Given the description of an element on the screen output the (x, y) to click on. 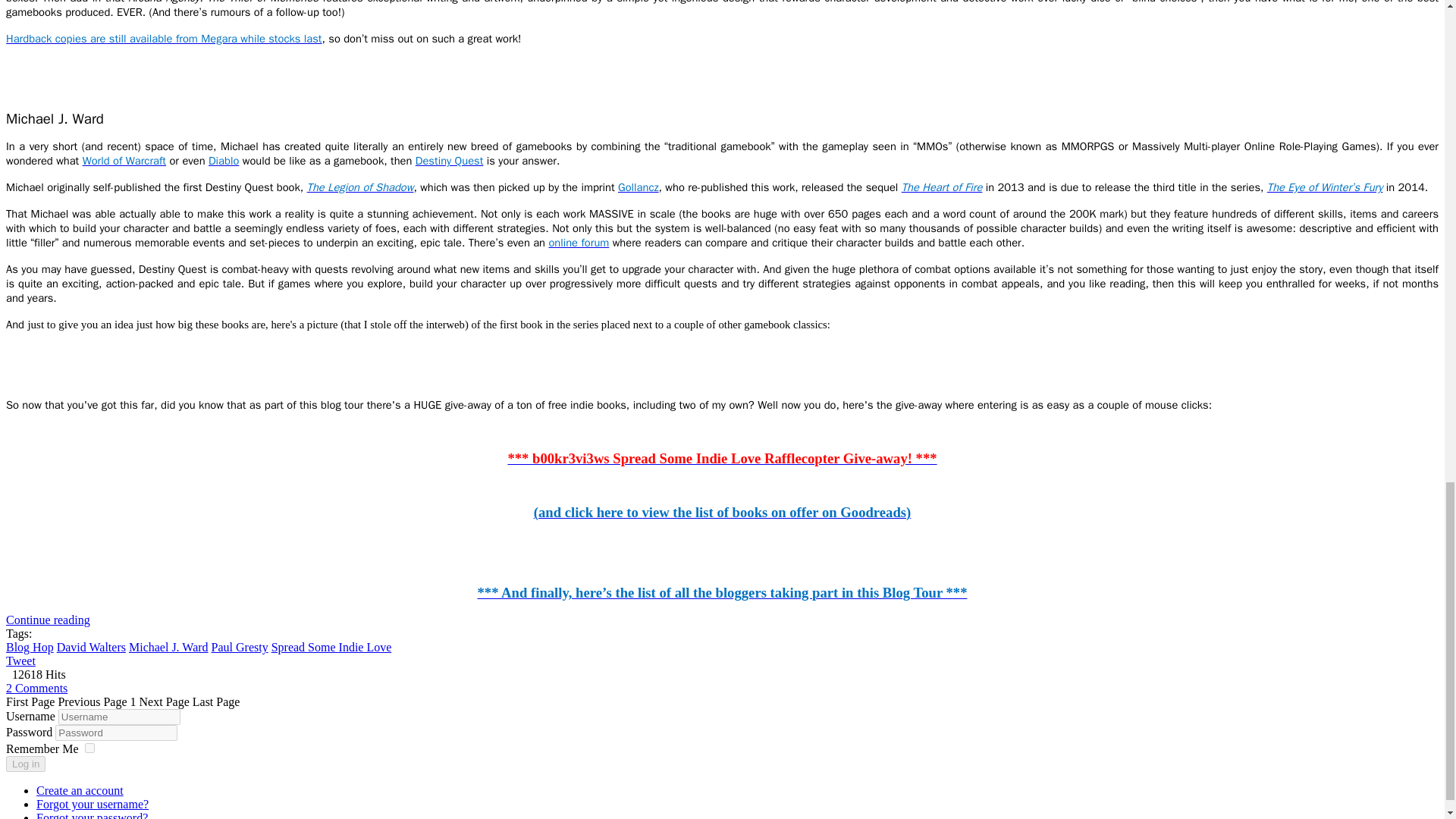
yes (89, 747)
